Given the description of an element on the screen output the (x, y) to click on. 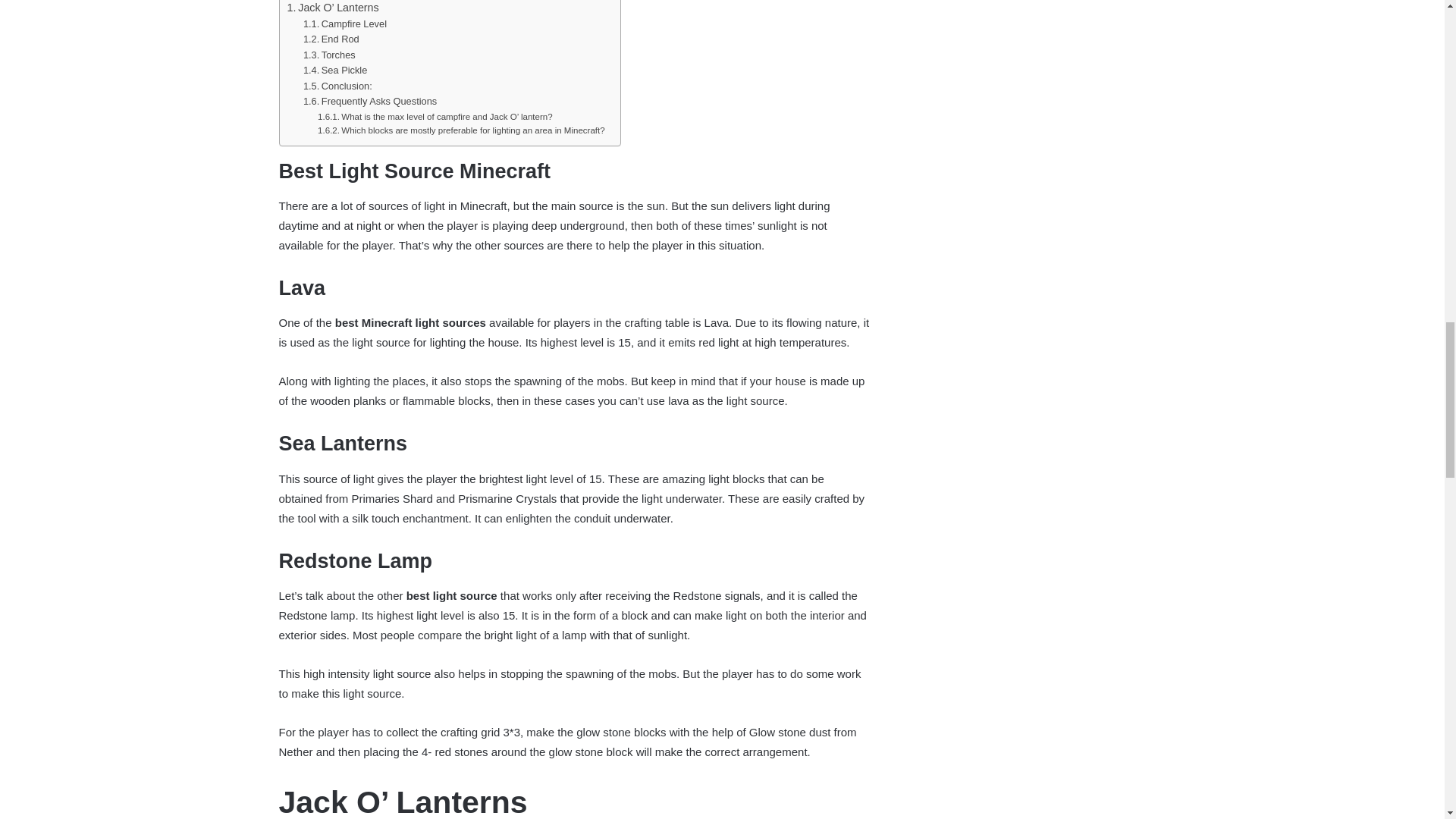
Torches (328, 55)
Frequently Asks Questions (369, 101)
End Rod (330, 39)
Campfire Level (344, 24)
Campfire Level (344, 24)
Torches (328, 55)
Conclusion: (337, 86)
Sea Pickle (334, 70)
End Rod (330, 39)
Sea Pickle (334, 70)
